Given the description of an element on the screen output the (x, y) to click on. 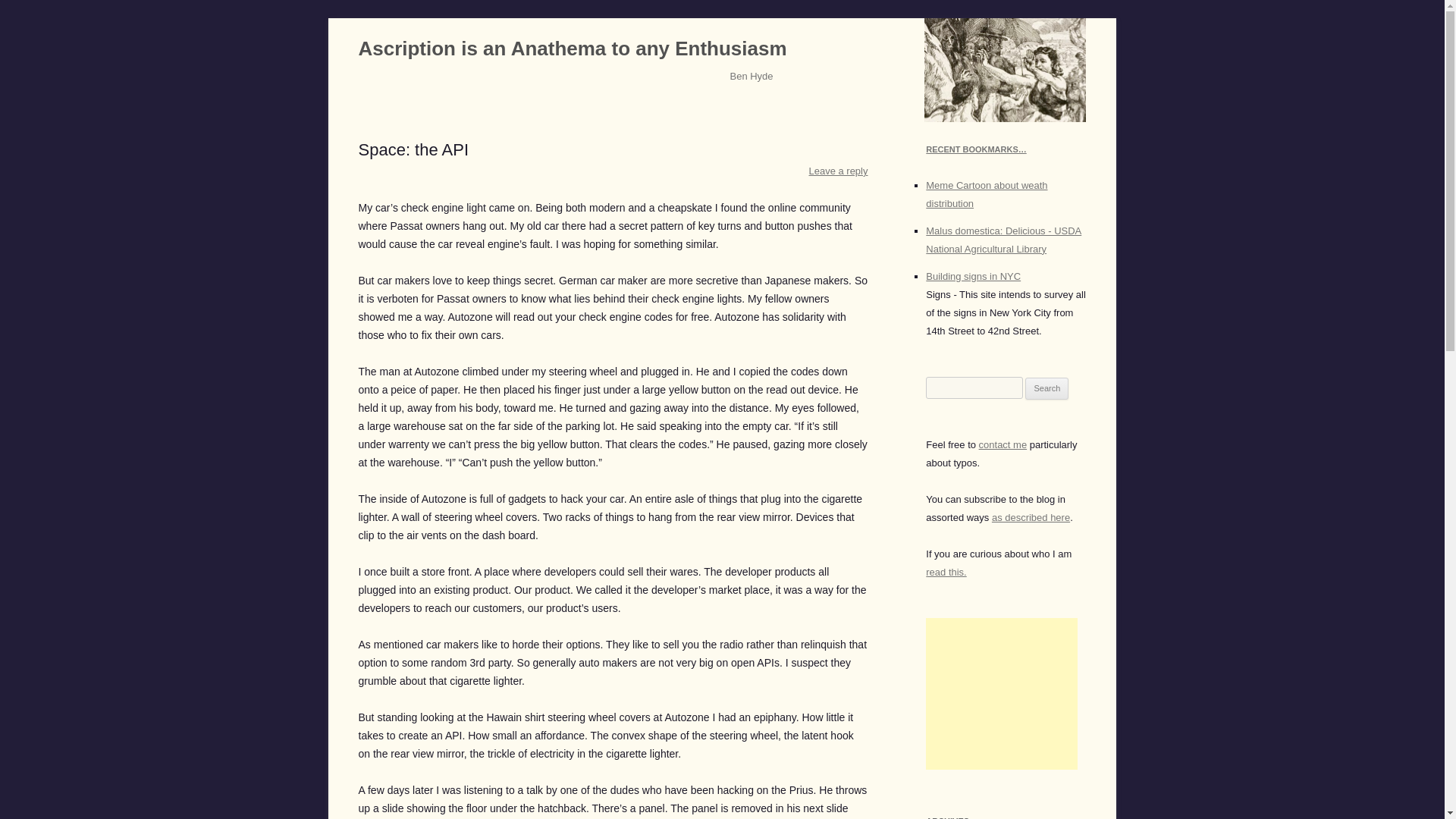
Search (1046, 388)
Ascription is an Anathema to any Enthusiasm (572, 49)
read this. (946, 572)
Ascription is an Anathema to any Enthusiasm (572, 49)
Leave a reply (838, 170)
contact me (1002, 444)
Search (1046, 388)
Building signs in NYC (973, 276)
Meme Cartoon about weath distribution (986, 194)
as described here (1030, 517)
Reveal this e-mail address (1002, 444)
Advertisement (1001, 693)
